Given the description of an element on the screen output the (x, y) to click on. 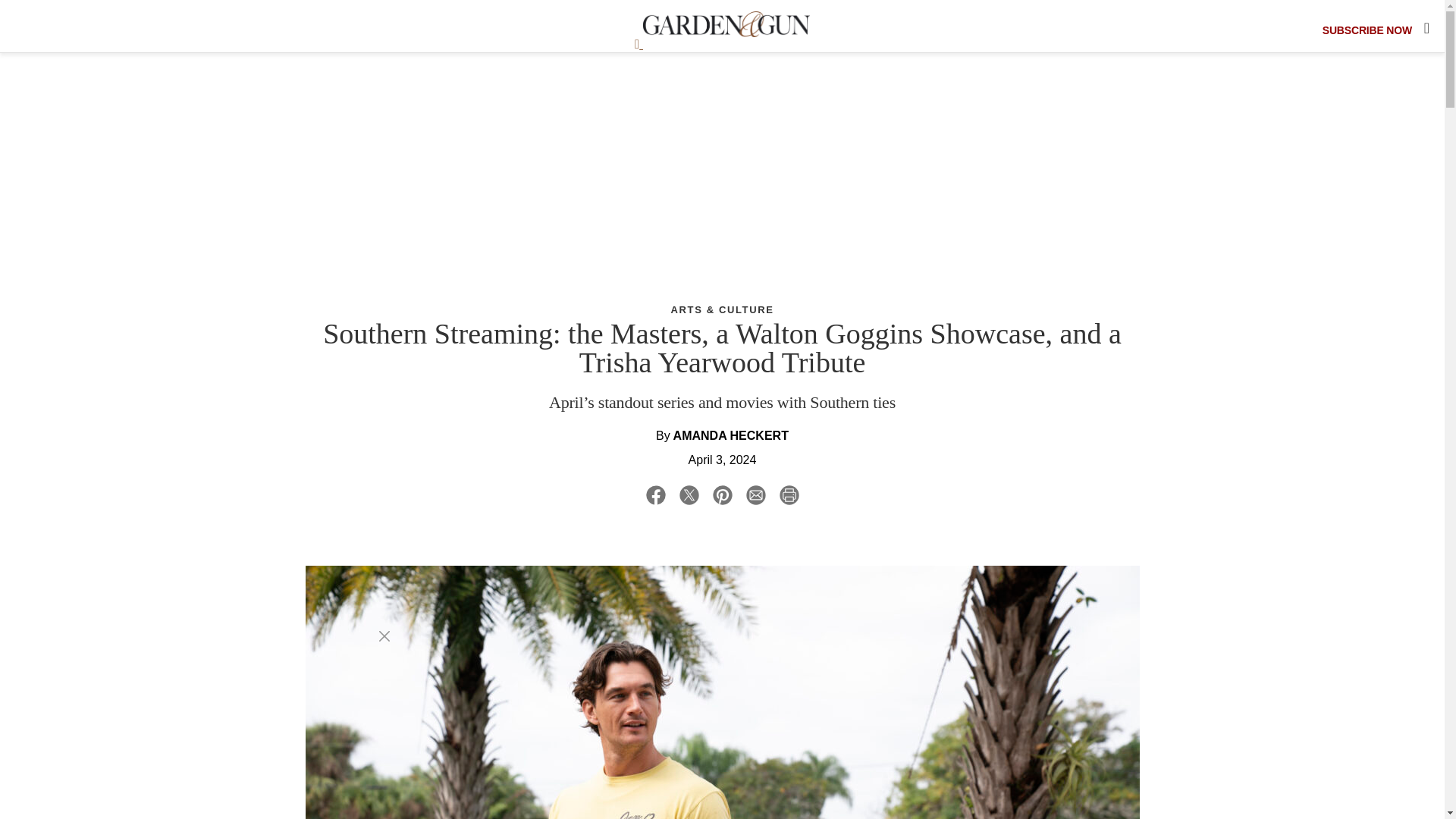
SUBSCRIBE NOW (1367, 30)
AMANDA HECKERT (730, 435)
Accessibility Contact Information (58, 14)
